Given the description of an element on the screen output the (x, y) to click on. 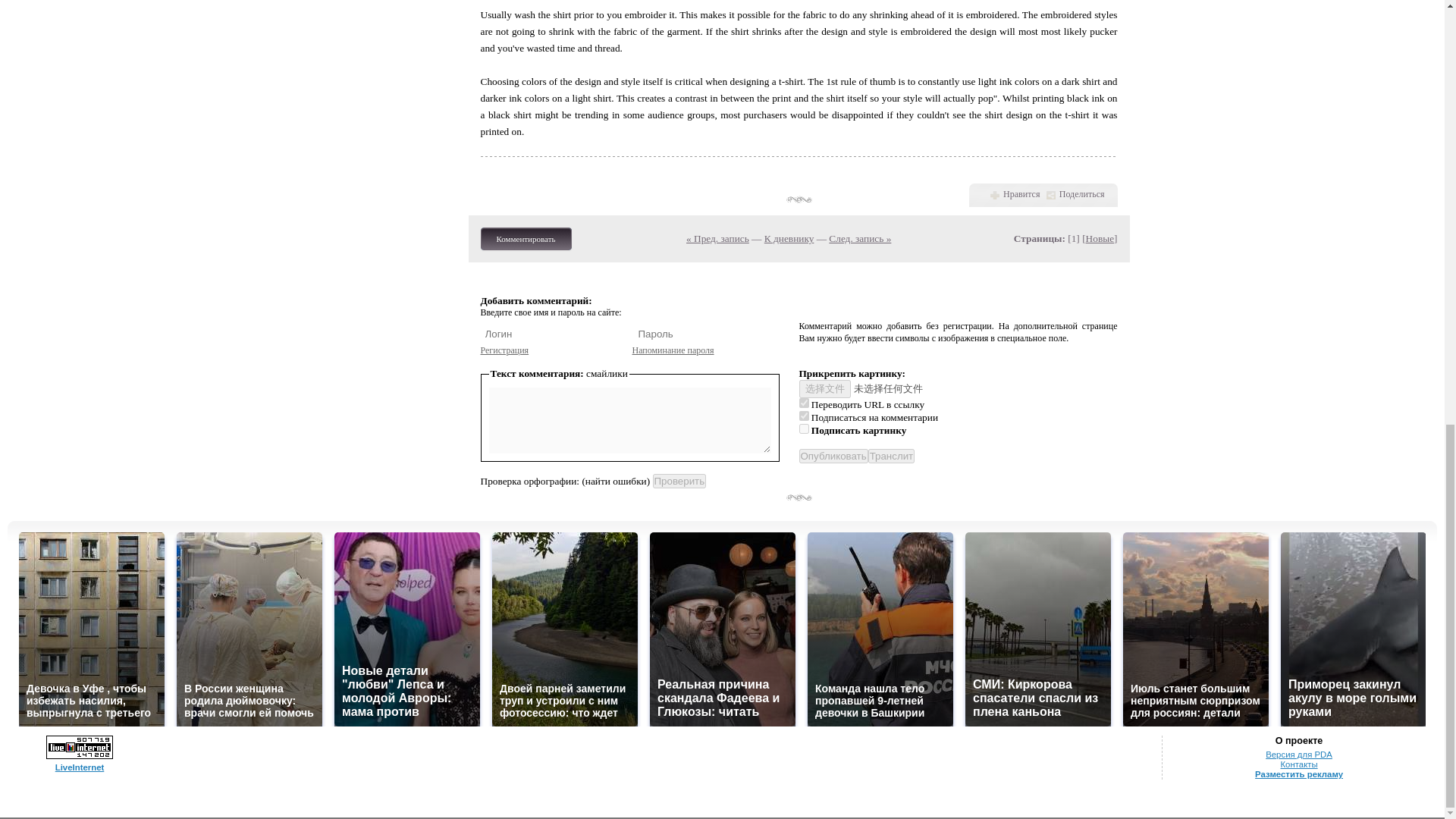
yes (804, 402)
1 (804, 429)
yes (804, 415)
